Given the description of an element on the screen output the (x, y) to click on. 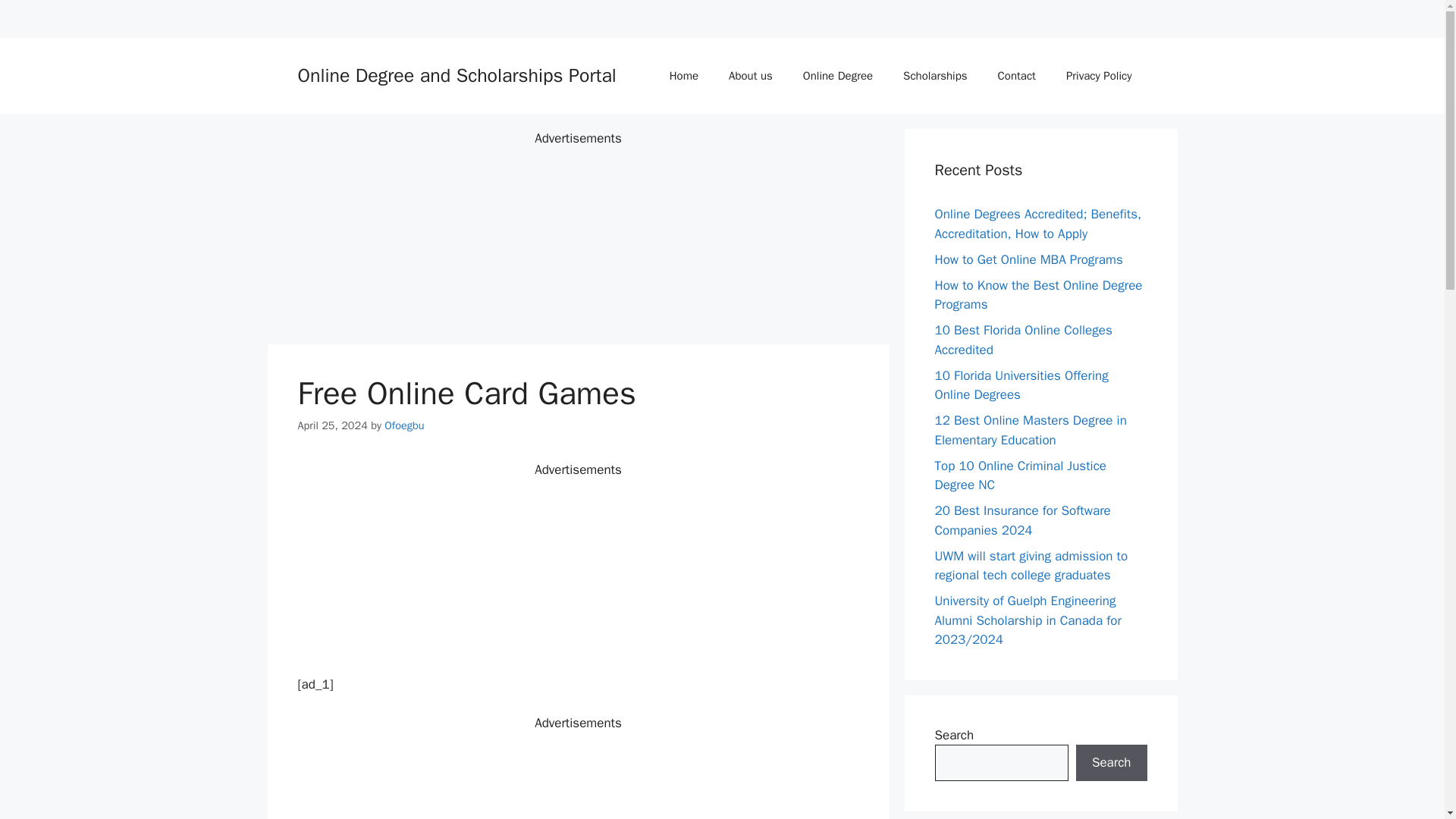
10 Florida Universities Offering Online Degrees (1021, 384)
About us (750, 75)
Scholarships (934, 75)
20 Best Insurance for Software Companies 2024 (1021, 520)
How to Know the Best Online Degree Programs (1037, 294)
Ofoegbu (403, 425)
Contact (1016, 75)
12 Best Online Masters Degree in Elementary Education (1029, 429)
Online Degree (837, 75)
10 Best Florida Online Colleges Accredited (1023, 339)
Search (1111, 762)
View all posts by Ofoegbu (403, 425)
Online Degree and Scholarships Portal (456, 74)
